Given the description of an element on the screen output the (x, y) to click on. 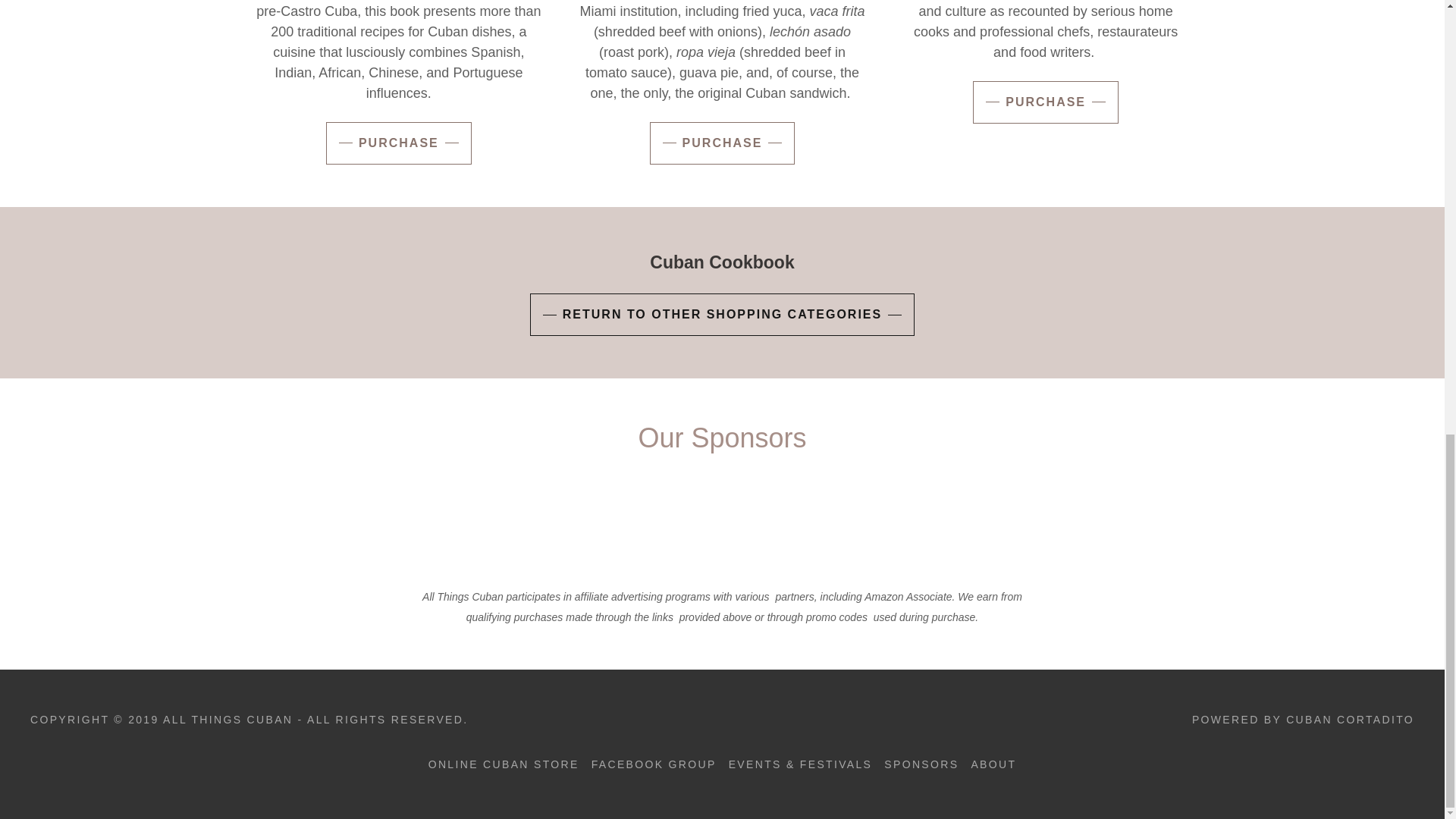
ONLINE CUBAN STORE (503, 764)
RETURN TO OTHER SHOPPING CATEGORIES (721, 314)
PURCHASE (721, 143)
PURCHASE (1045, 102)
FACEBOOK GROUP (653, 764)
PURCHASE (398, 143)
